Given the description of an element on the screen output the (x, y) to click on. 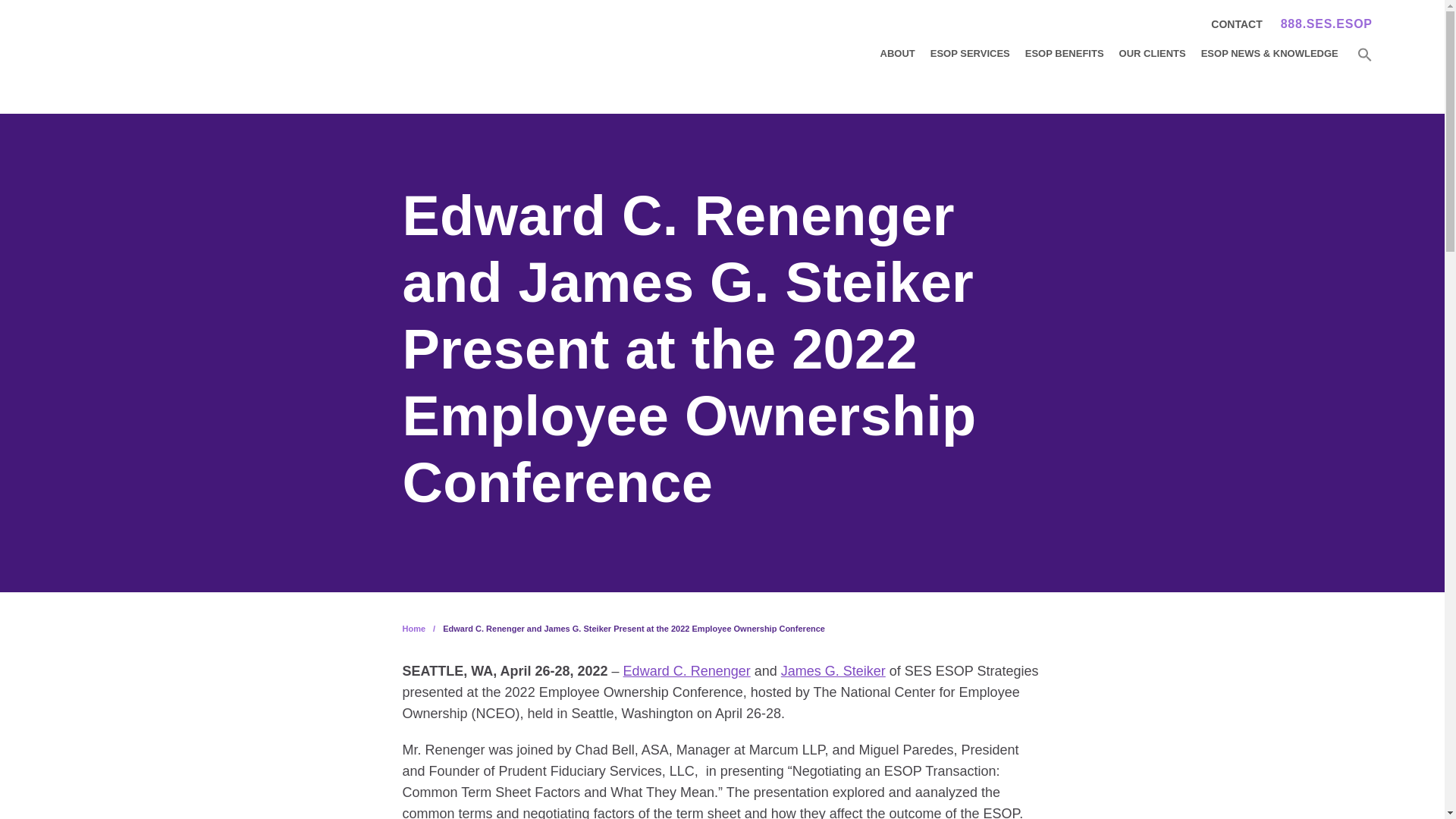
ESOP BENEFITS (1064, 52)
888.SES.ESOP (1327, 24)
ESOP SERVICES (970, 52)
ABOUT (897, 52)
CONTACT (1236, 24)
OUR CLIENTS (1152, 52)
